Given the description of an element on the screen output the (x, y) to click on. 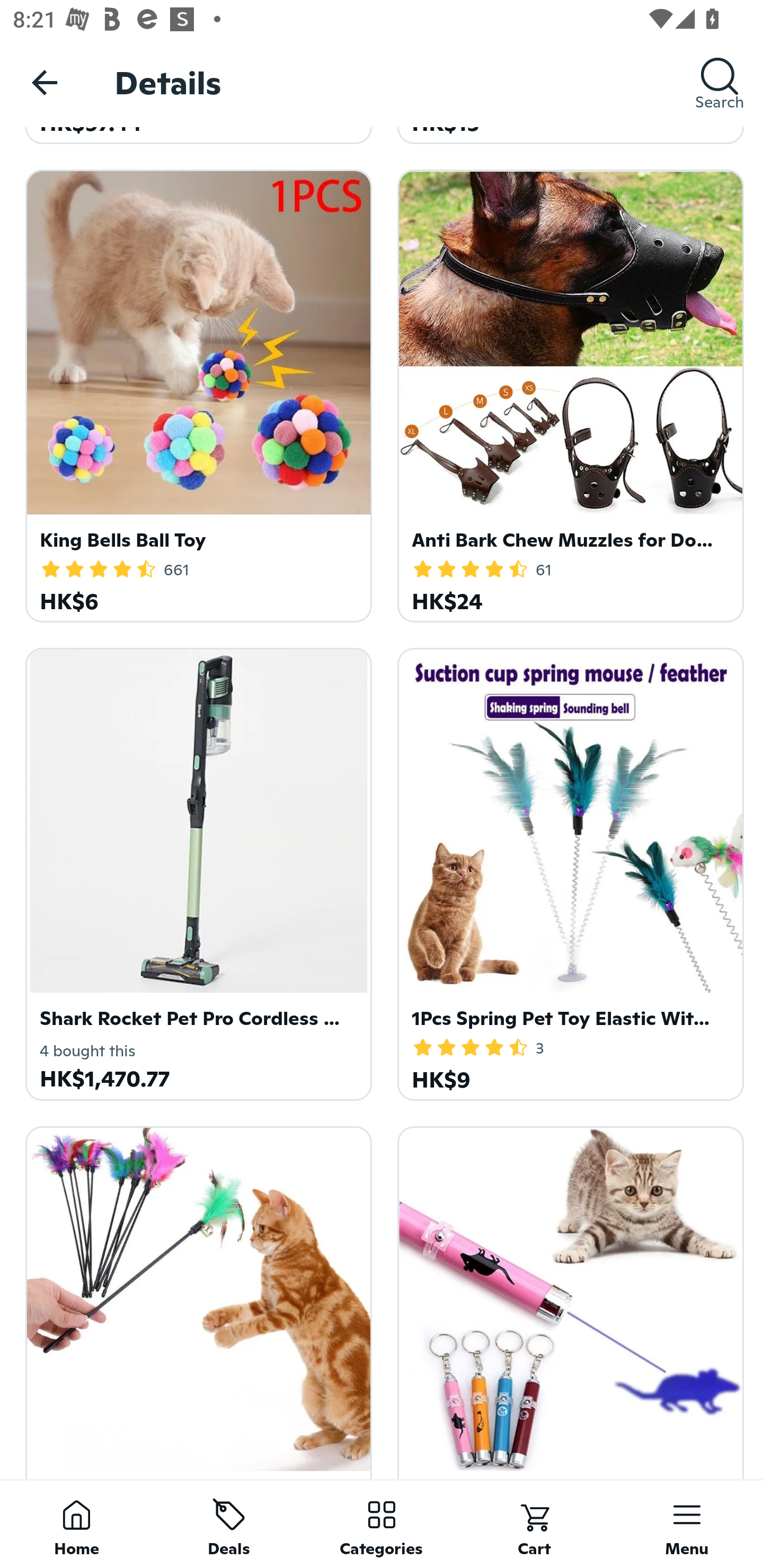
Navigate up (44, 82)
Search (719, 82)
King Bells Ball Toy 4.6 Star Rating 661 HK$6 (195, 392)
Home (76, 1523)
Deals (228, 1523)
Categories (381, 1523)
Cart (533, 1523)
Menu (686, 1523)
